Given the description of an element on the screen output the (x, y) to click on. 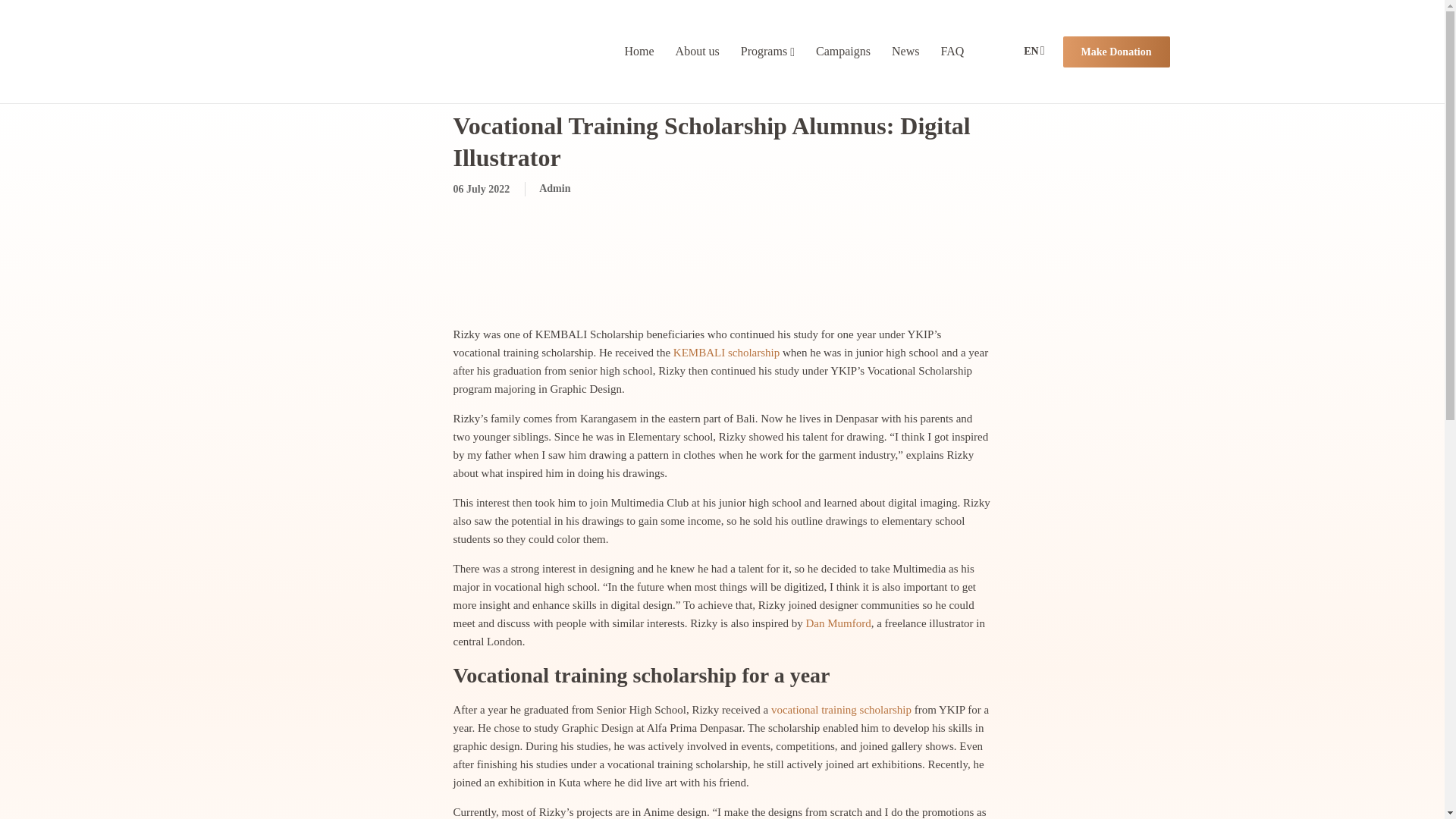
Home (638, 51)
Dan Mumford (837, 623)
KEMBALI scholarship (725, 352)
FAQ (951, 51)
Admin (554, 188)
vocational training scholarship (841, 709)
Posts by Admin (554, 188)
Make Donation (1116, 51)
Programs (764, 51)
EN (1030, 50)
